Given the description of an element on the screen output the (x, y) to click on. 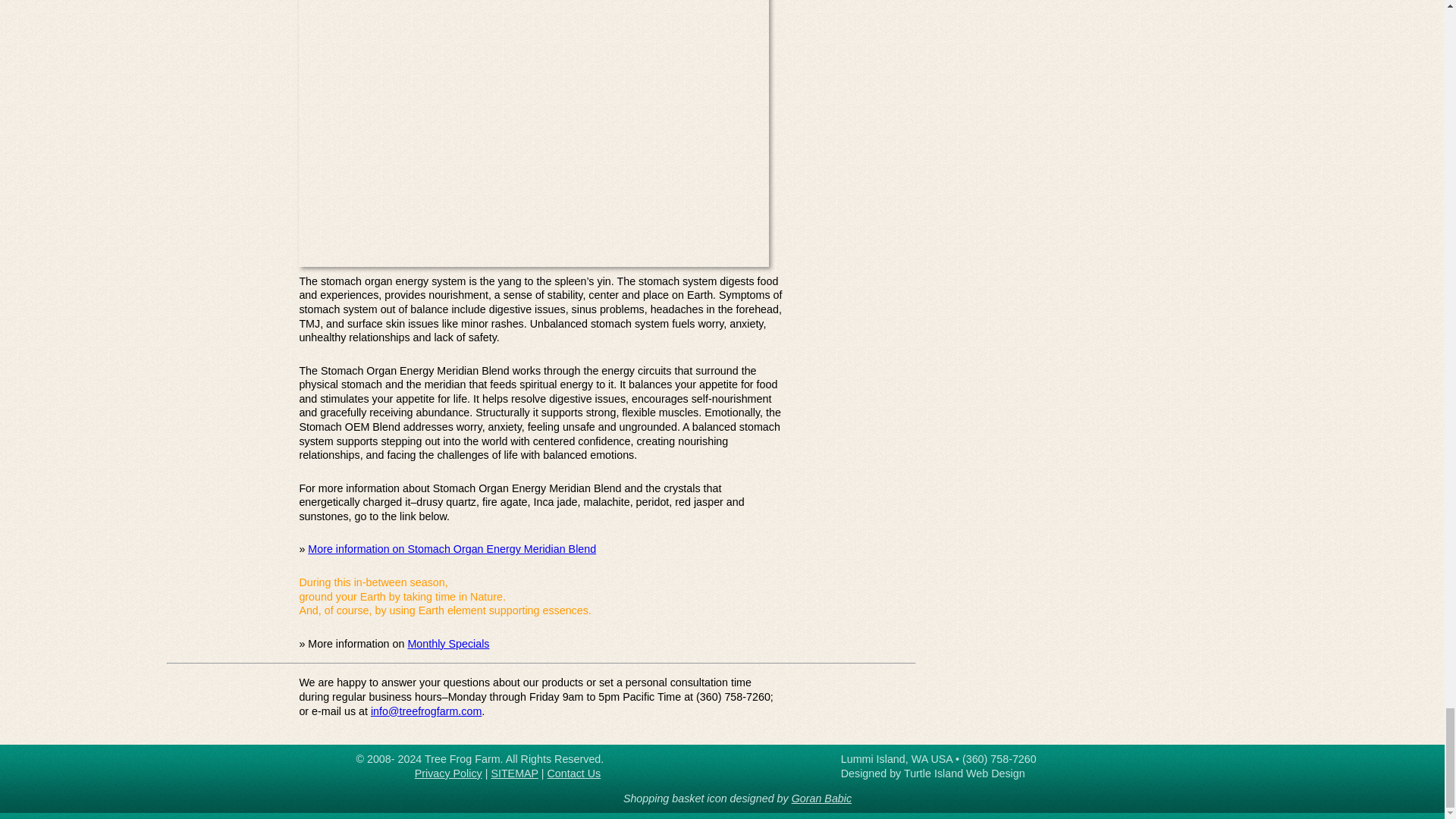
Monthly Specials (448, 644)
More information on Stomach Organ Energy Meridian Blend (451, 548)
